Given the description of an element on the screen output the (x, y) to click on. 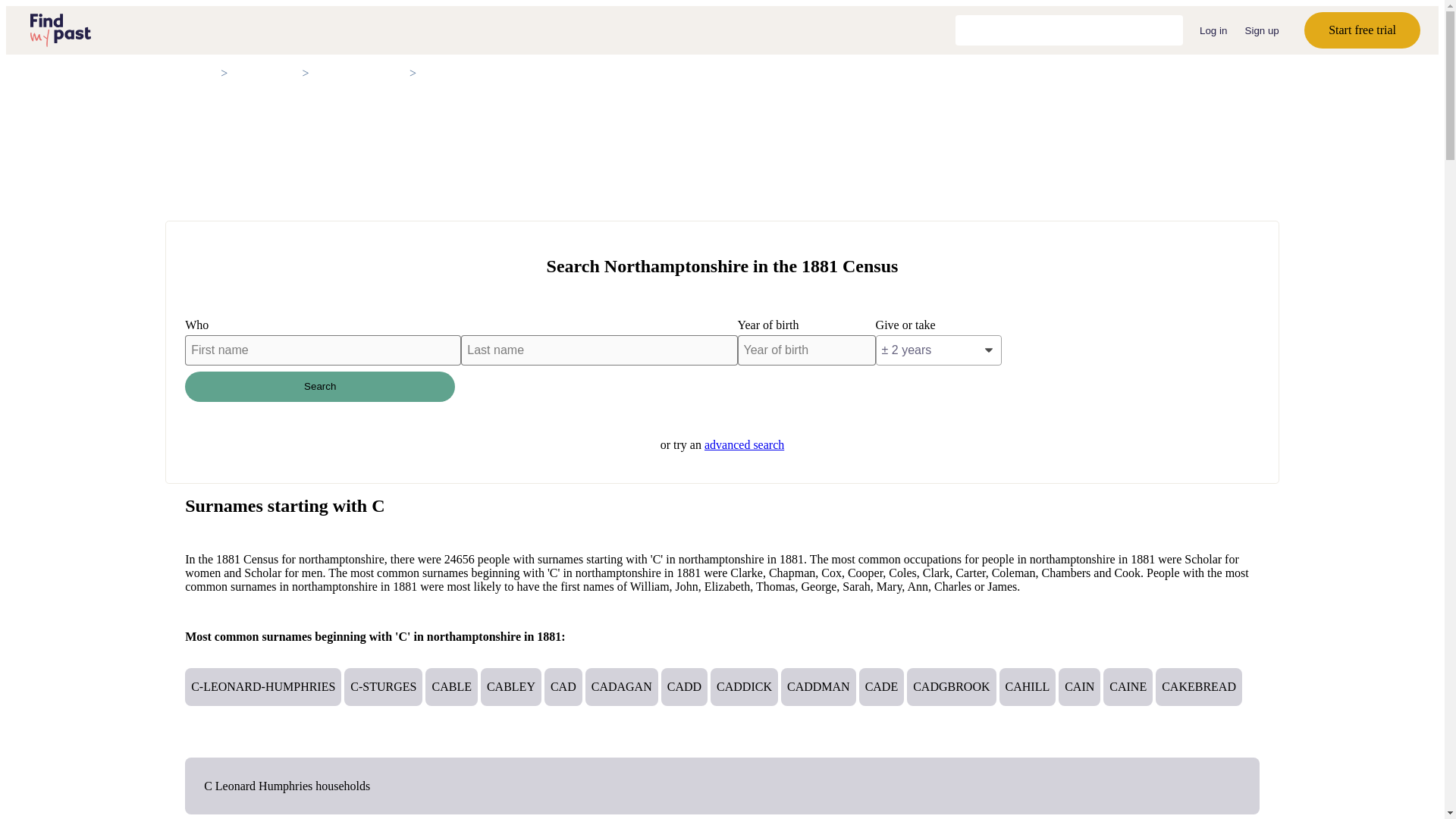
C-STURGES (382, 686)
Customer reviews powered by Trustpilot (1068, 29)
CAIN (1079, 686)
advanced search (744, 444)
CADGBROOK (951, 686)
C-LEONARD-HUMPHRIES (262, 686)
CAINE (1128, 686)
CAKEBREAD (1198, 686)
Start free trial (1362, 30)
CAHILL (1027, 686)
